Given the description of an element on the screen output the (x, y) to click on. 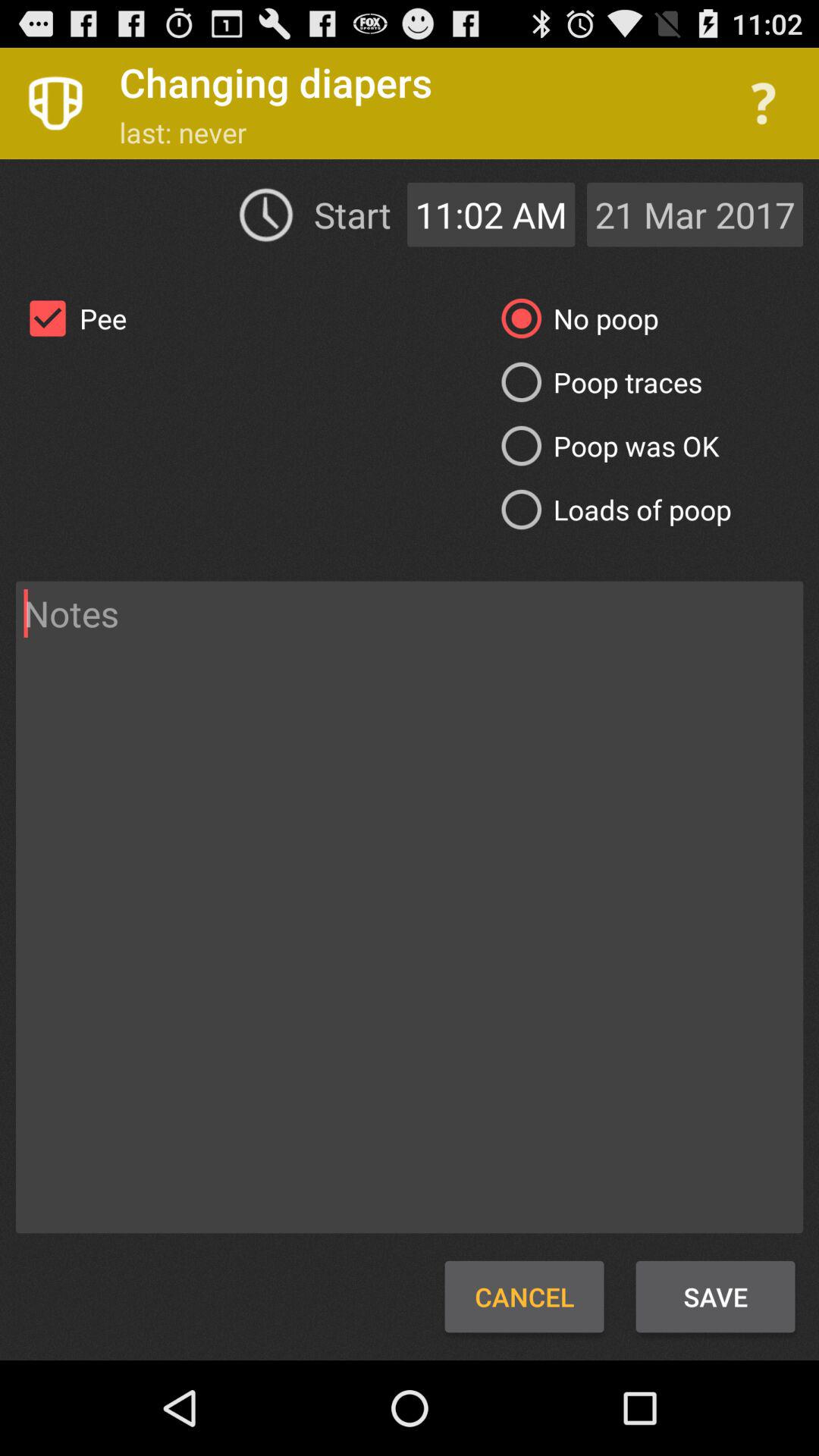
scroll to pee icon (70, 318)
